Given the description of an element on the screen output the (x, y) to click on. 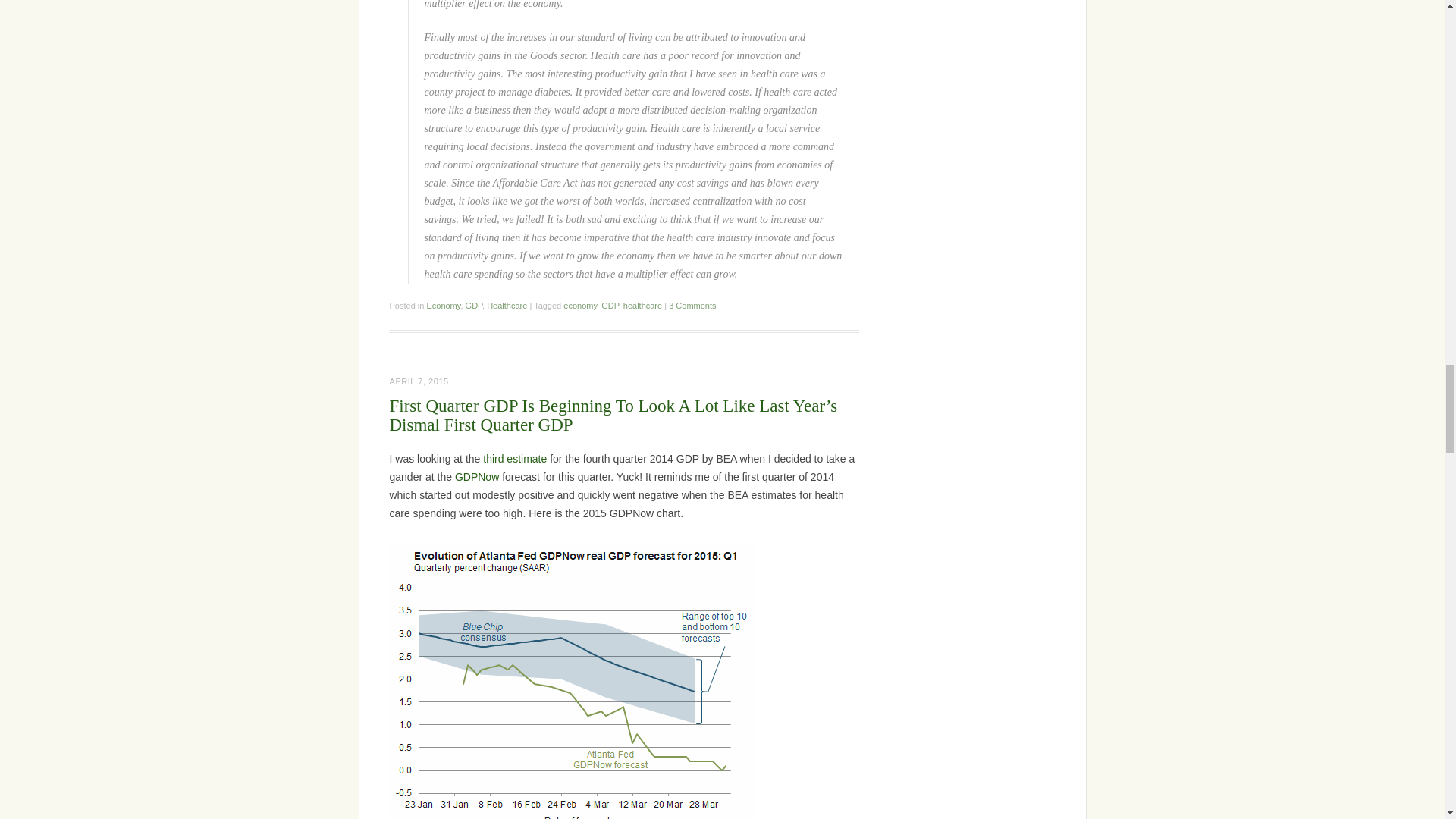
1:37 pm (419, 380)
gdpnow-forecast-evolution20150402 (572, 681)
